Given the description of an element on the screen output the (x, y) to click on. 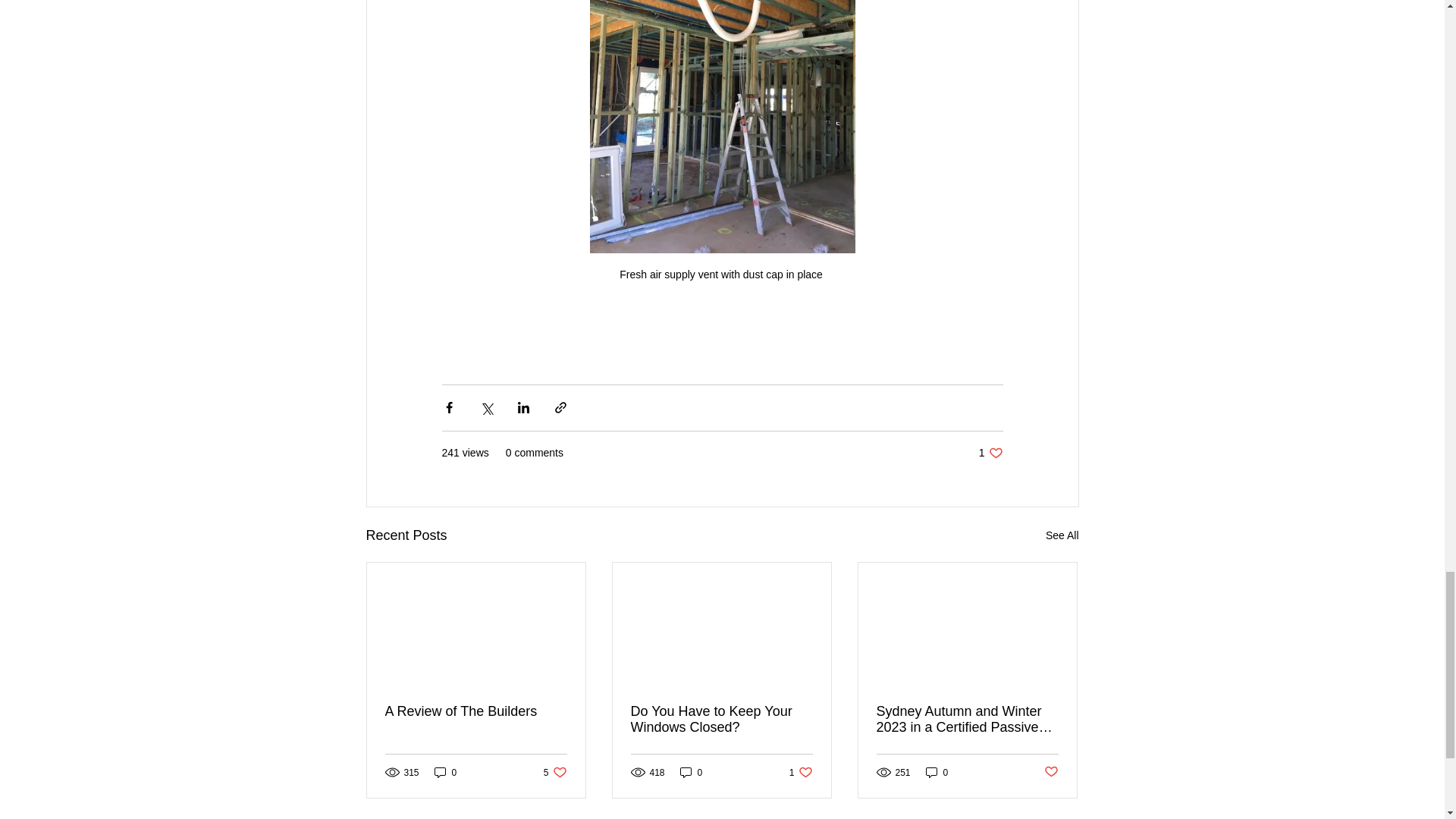
0 (800, 771)
See All (937, 771)
0 (1061, 535)
0 (990, 452)
Post not marked as liked (445, 771)
Do You Have to Keep Your Windows Closed? (691, 771)
A Review of The Builders (1050, 772)
Sydney Autumn and Winter 2023 in a Certified Passive House (721, 719)
